Given the description of an element on the screen output the (x, y) to click on. 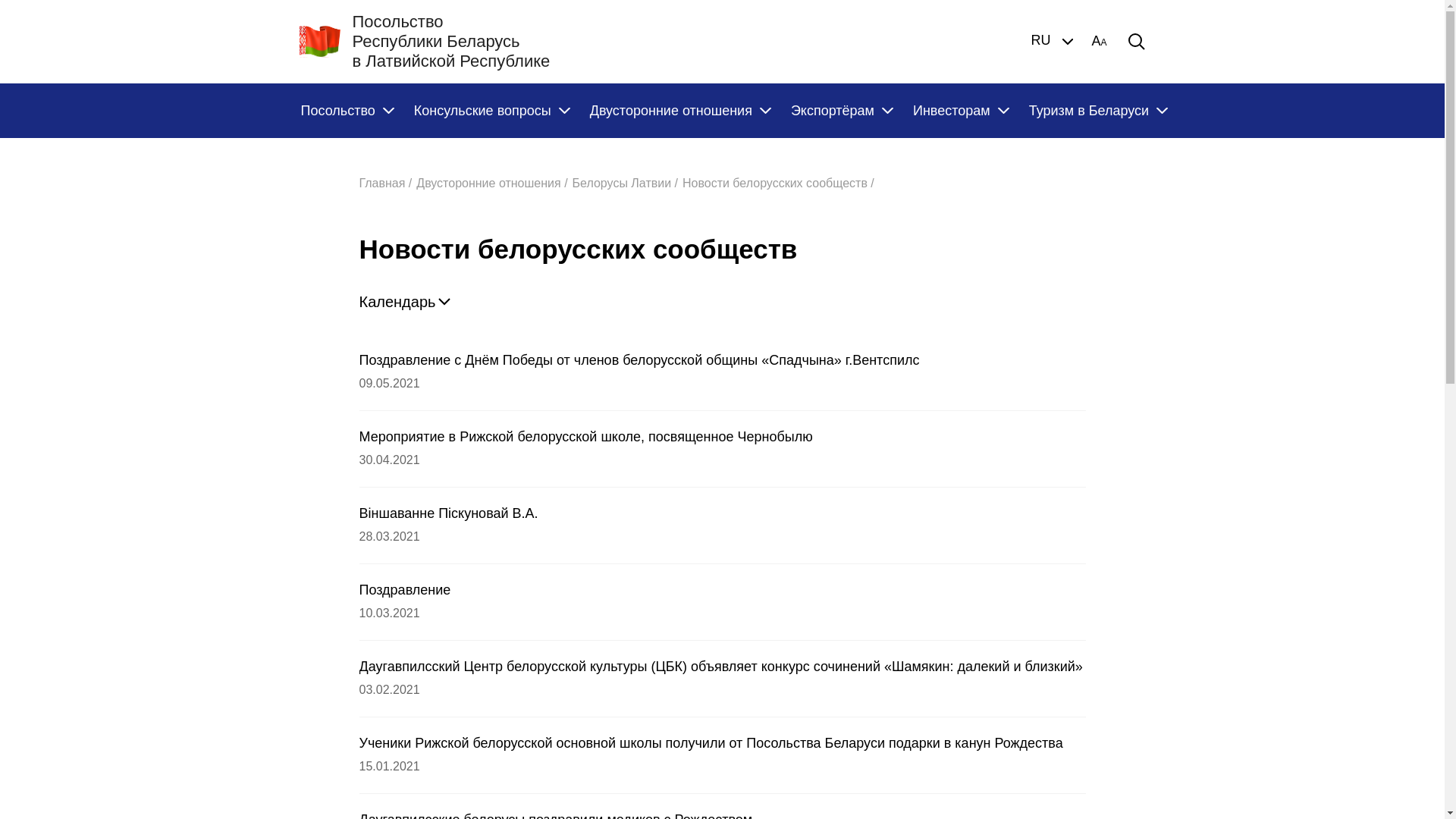
AA Element type: text (1098, 41)
